Given the description of an element on the screen output the (x, y) to click on. 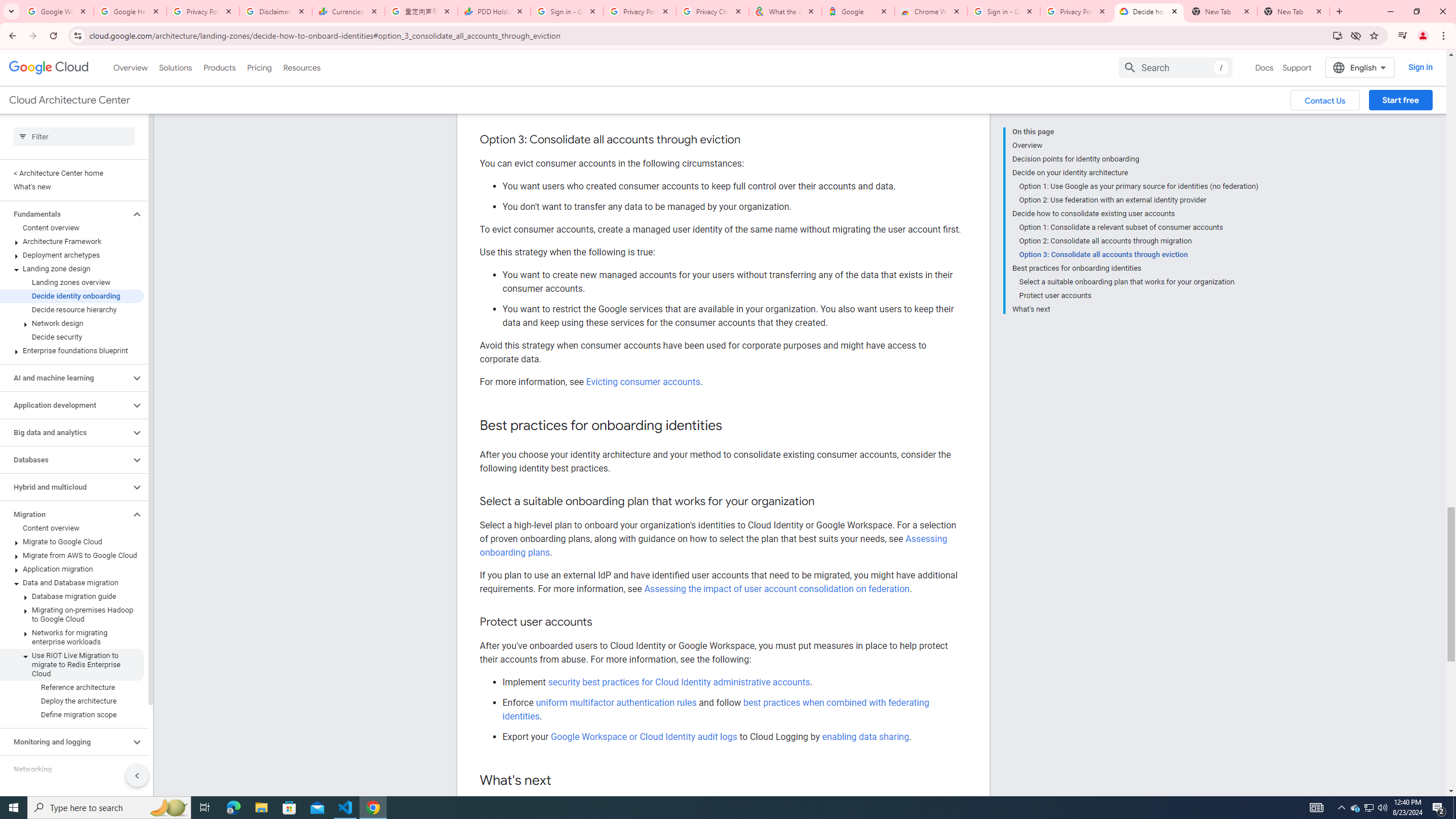
Migration (64, 514)
New Tab (1293, 11)
Network design (72, 323)
Migrating on-premises Hadoop to Google Cloud (72, 614)
Hide side navigation (136, 775)
Landing zone design (72, 269)
AI and machine learning (64, 377)
Sign in - Google Accounts (1003, 11)
